Given the description of an element on the screen output the (x, y) to click on. 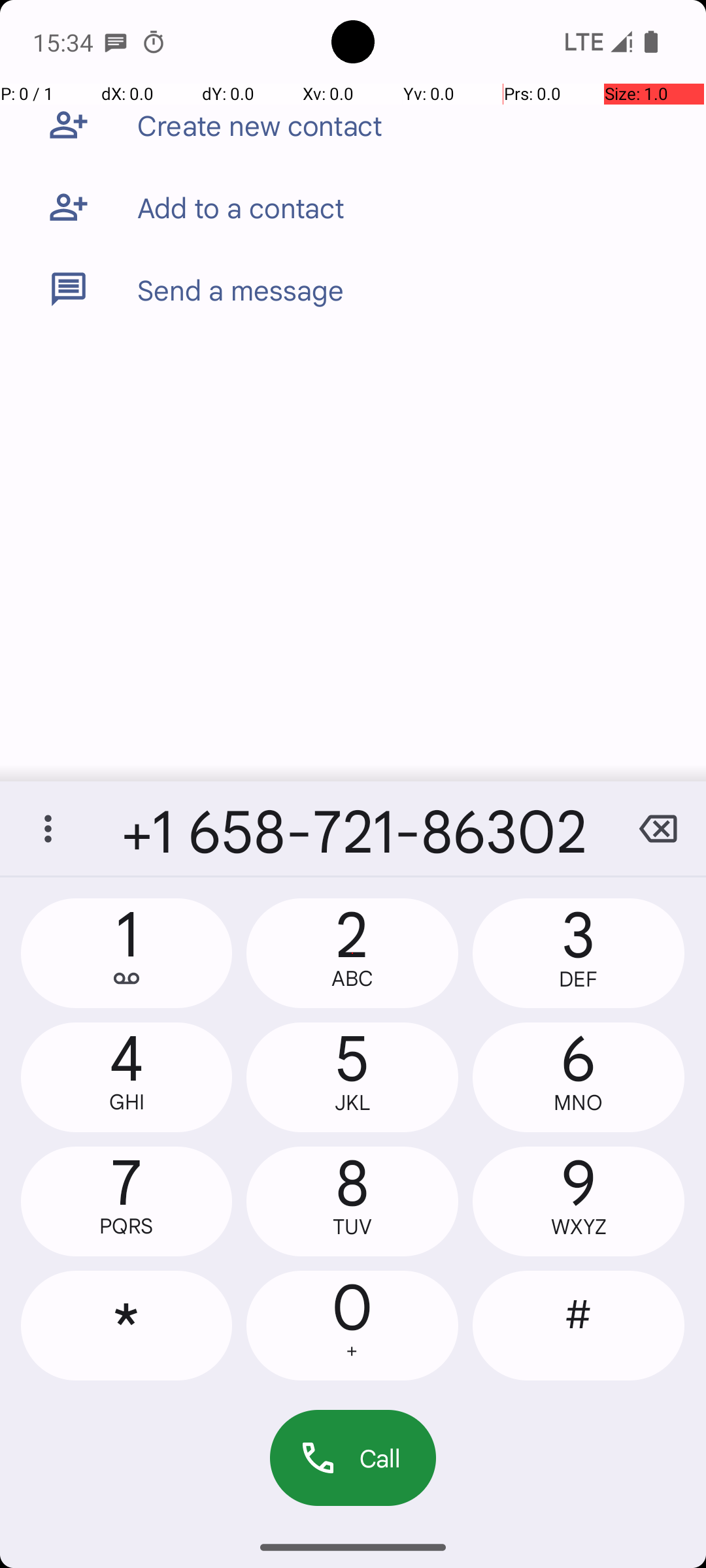
+1 658-721-86302 Element type: android.widget.EditText (352, 828)
